Given the description of an element on the screen output the (x, y) to click on. 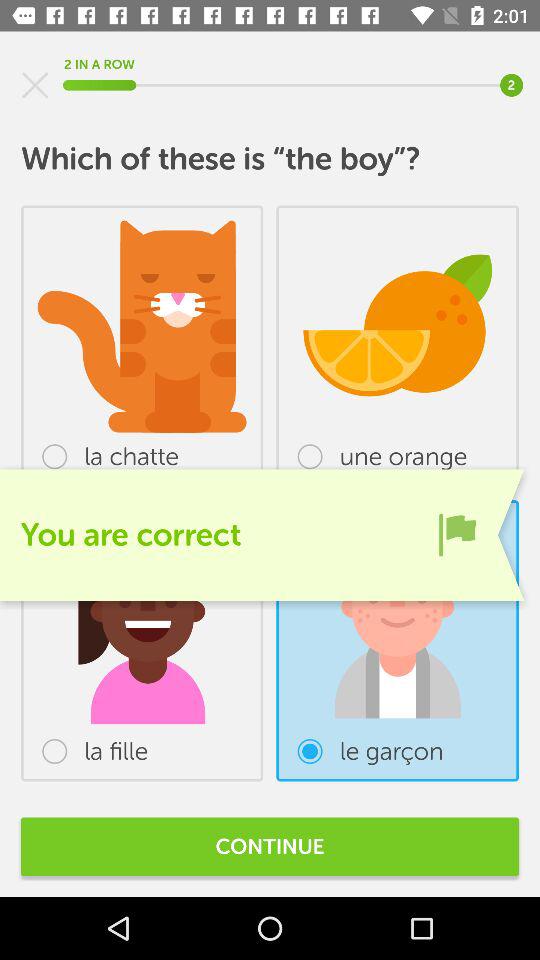
press the item below the une orange item (457, 534)
